Given the description of an element on the screen output the (x, y) to click on. 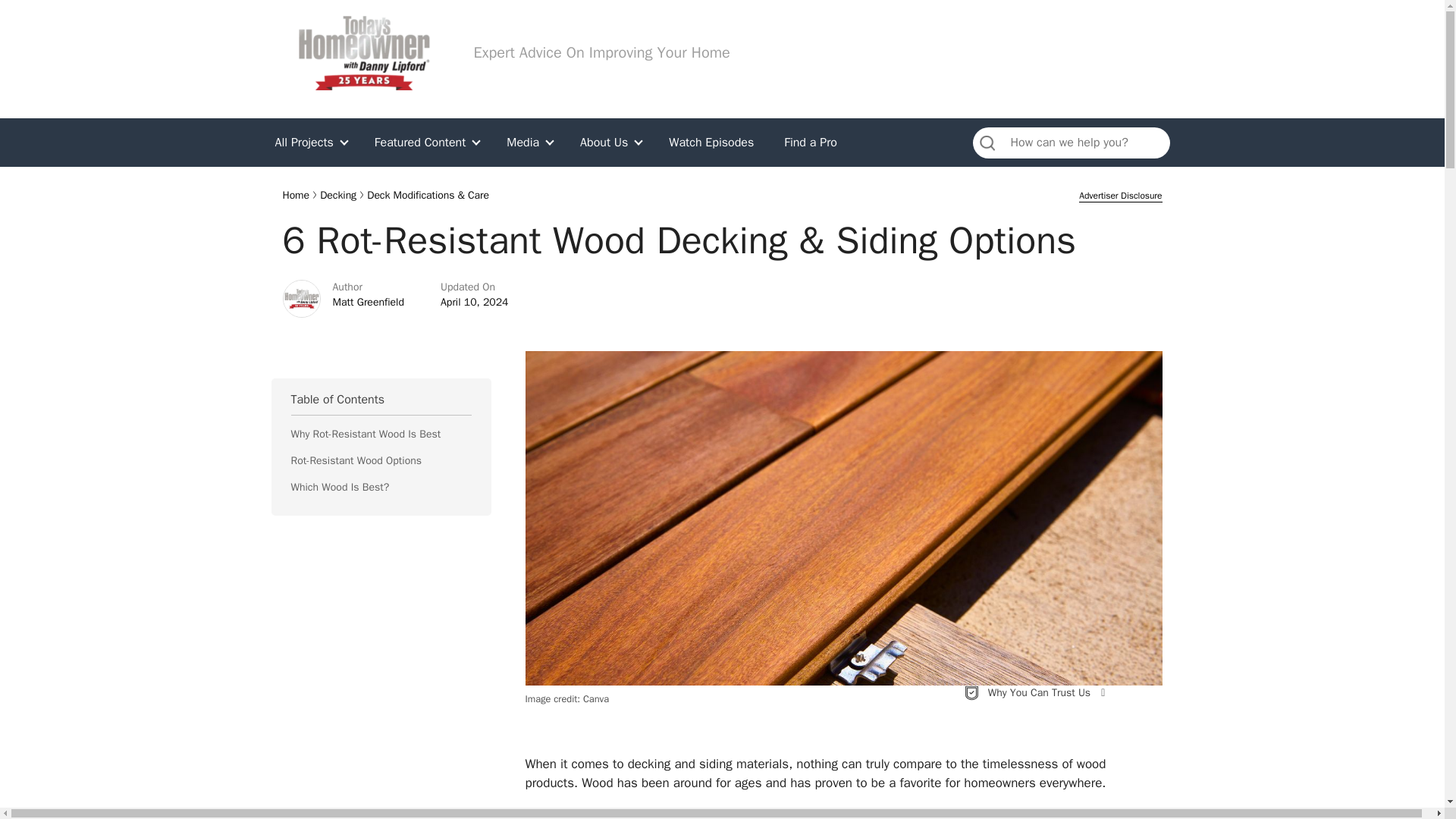
All Projects (312, 142)
